Given the description of an element on the screen output the (x, y) to click on. 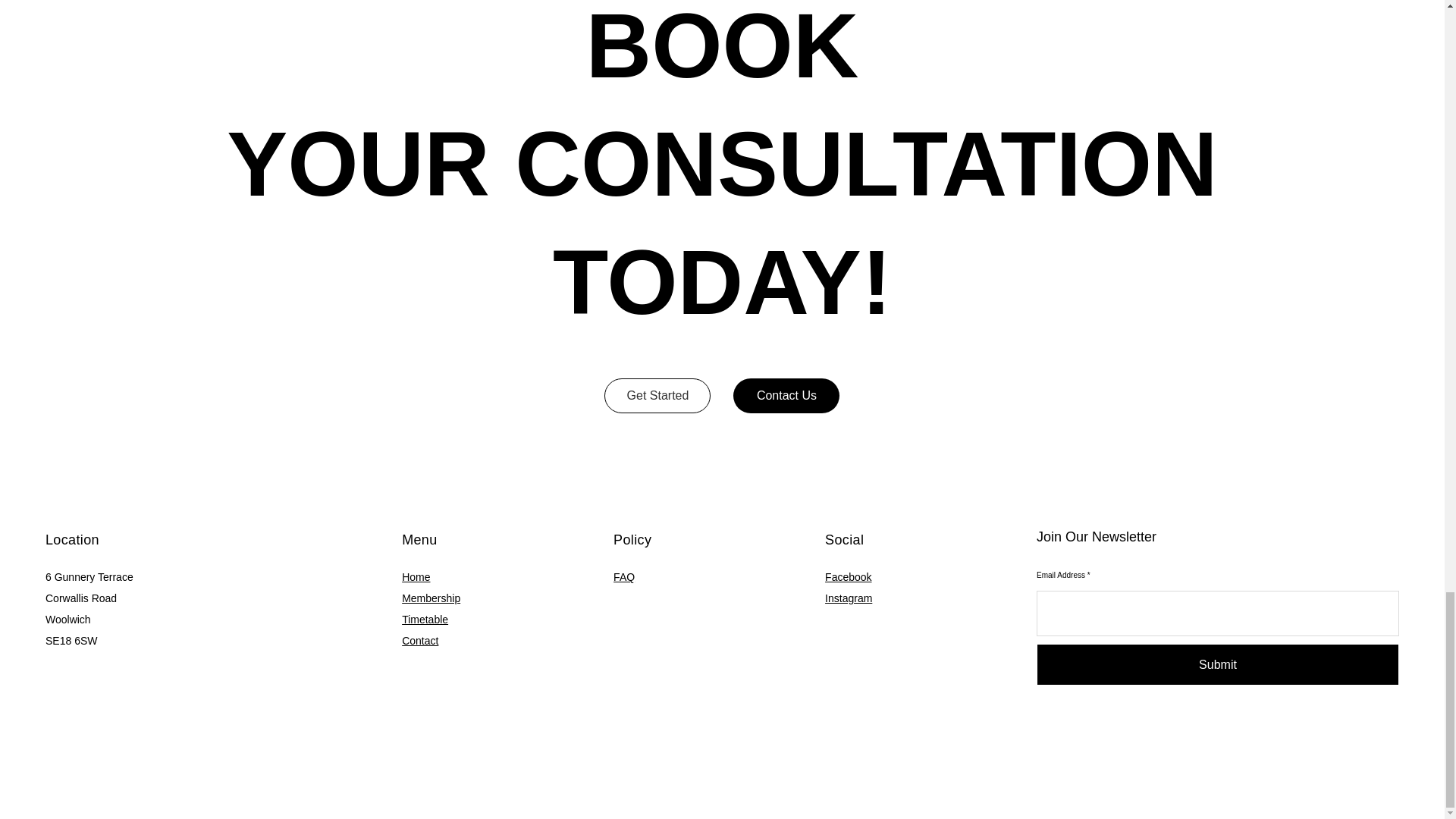
Membership (430, 598)
Contact (419, 640)
Instagram (848, 598)
Submit (1217, 664)
Facebook (847, 576)
Contact Us (786, 395)
Timetable (424, 619)
Get Started (657, 395)
FAQ (623, 576)
Home (415, 576)
